Given the description of an element on the screen output the (x, y) to click on. 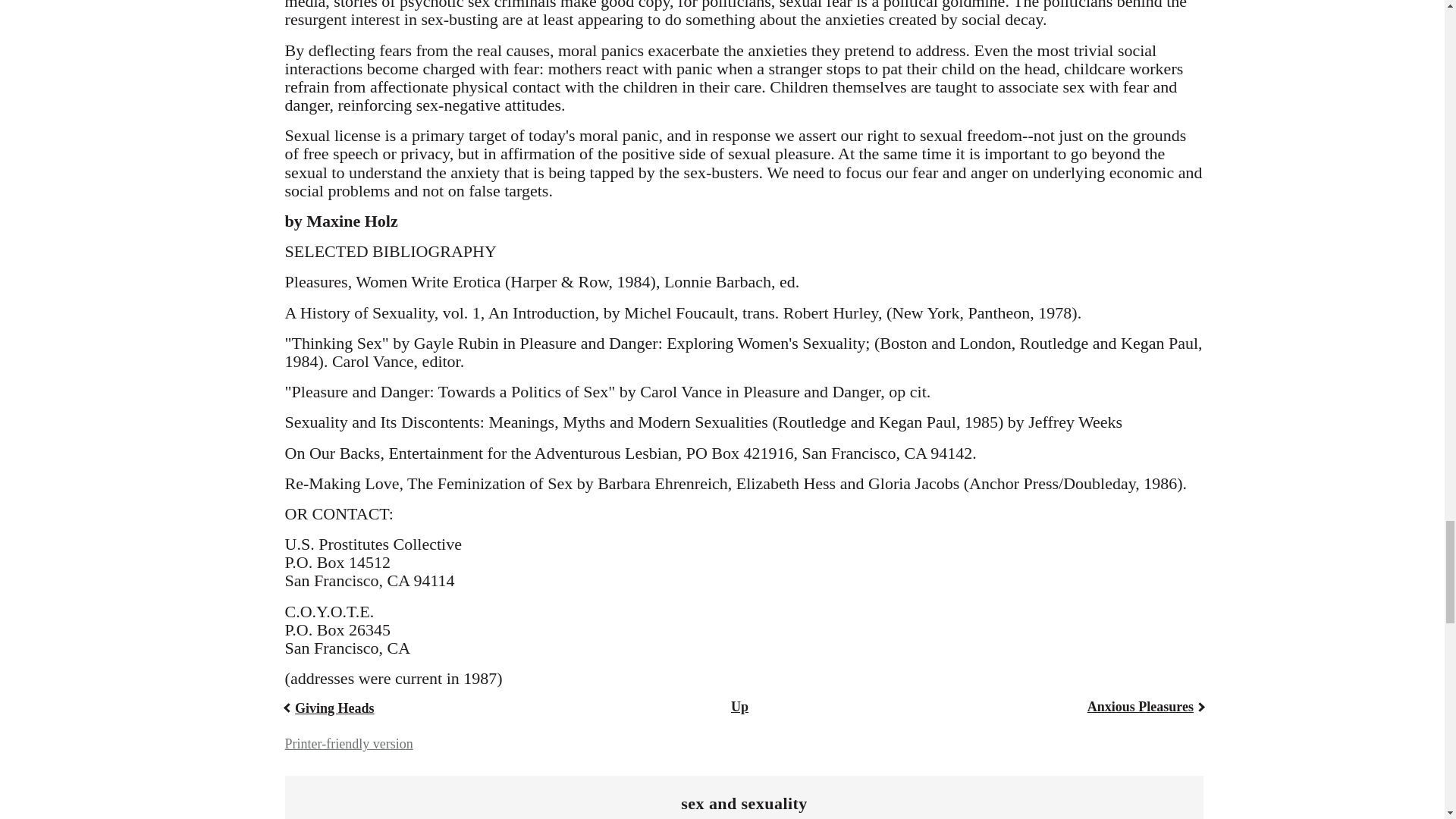
Go to previous page (329, 708)
Go to next page (1145, 706)
Printer-friendly version (349, 743)
Giving Heads (329, 708)
Anxious Pleasures (1145, 706)
sex and sexuality (743, 803)
Go to parent page (739, 706)
Up (739, 706)
